Given the description of an element on the screen output the (x, y) to click on. 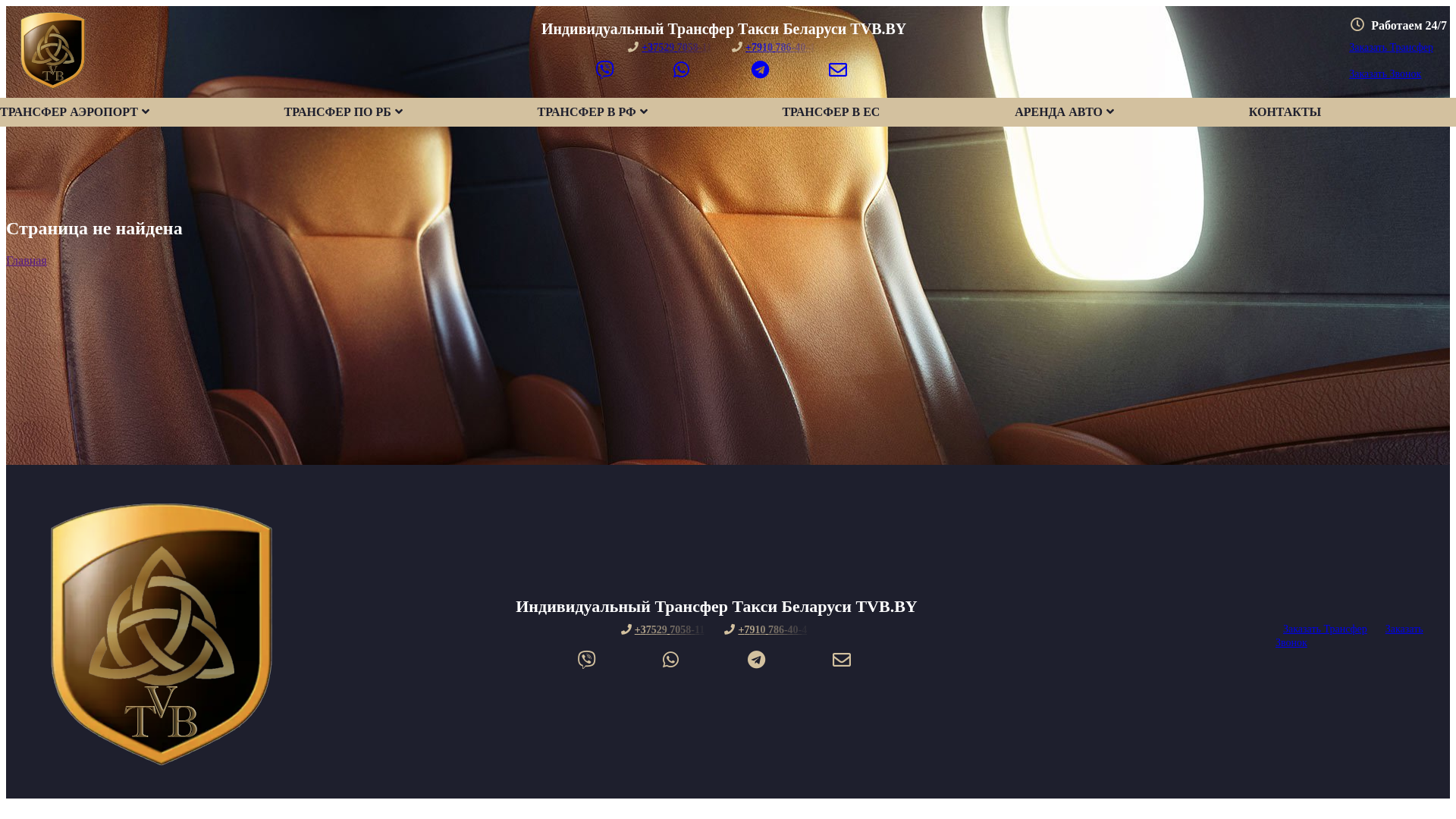
+7910 786-40-4 Element type: text (775, 47)
+7910 786-40-4 Element type: text (768, 629)
+37529 7058-11 Element type: text (665, 629)
+37529 7058-11 Element type: text (671, 47)
